Given the description of an element on the screen output the (x, y) to click on. 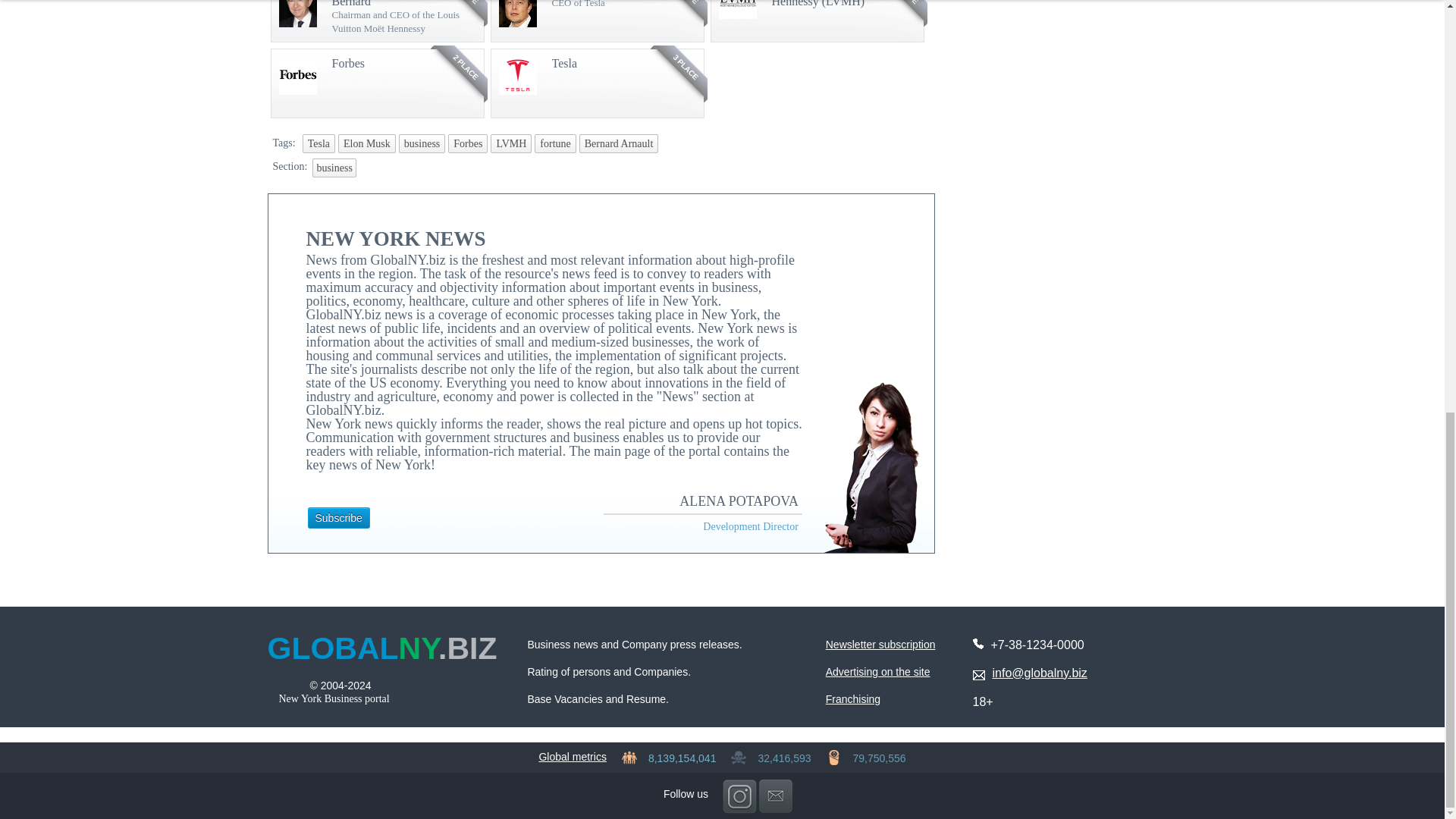
Tesla (564, 62)
Forbes (348, 62)
ARNAULT Bernard (359, 3)
